Given the description of an element on the screen output the (x, y) to click on. 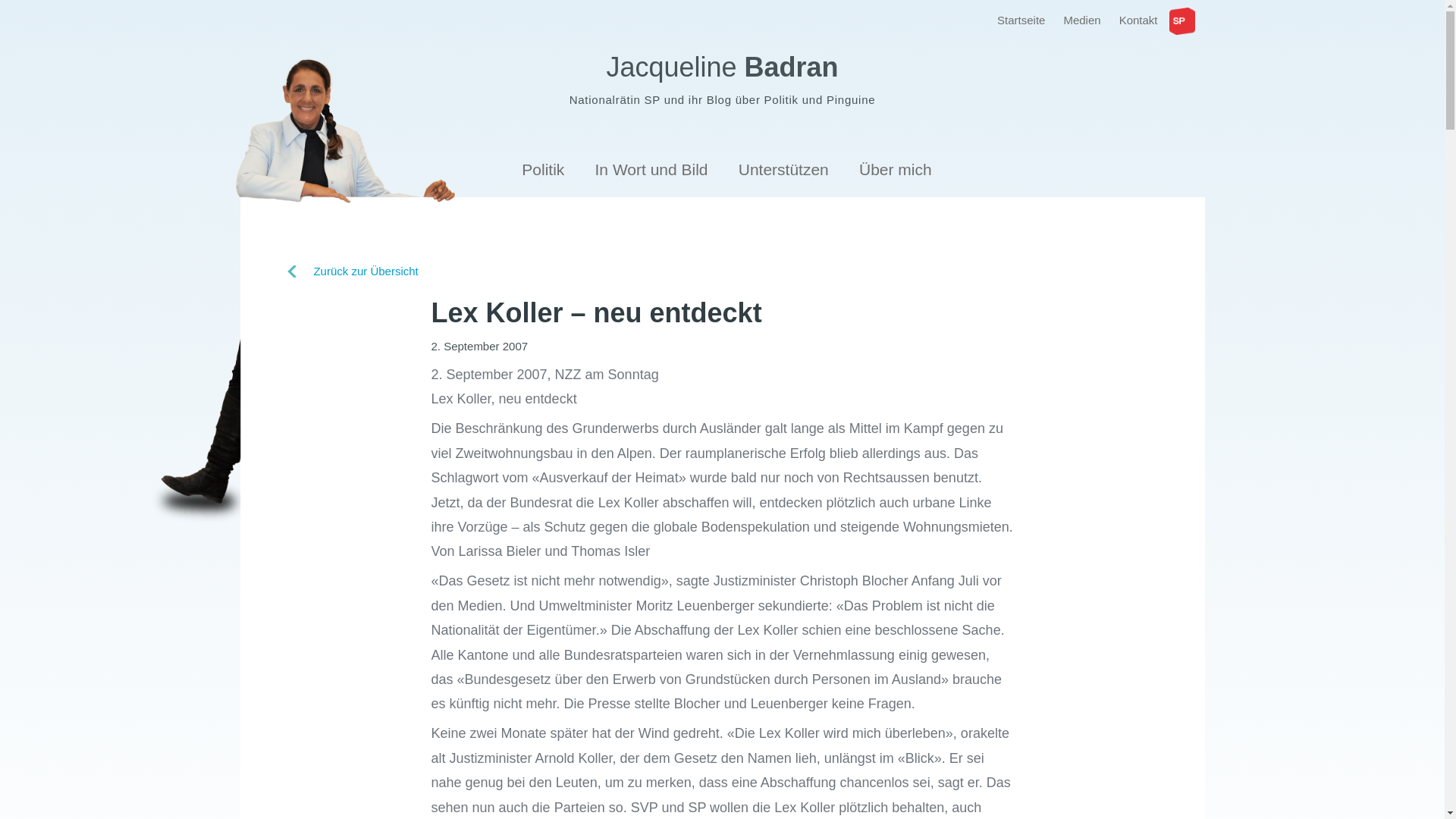
Politik Element type: text (542, 170)
Medien Element type: text (1081, 19)
Startseite Element type: text (1020, 19)
Kontakt Element type: text (1138, 19)
In Wort und Bild Element type: text (651, 170)
